Given the description of an element on the screen output the (x, y) to click on. 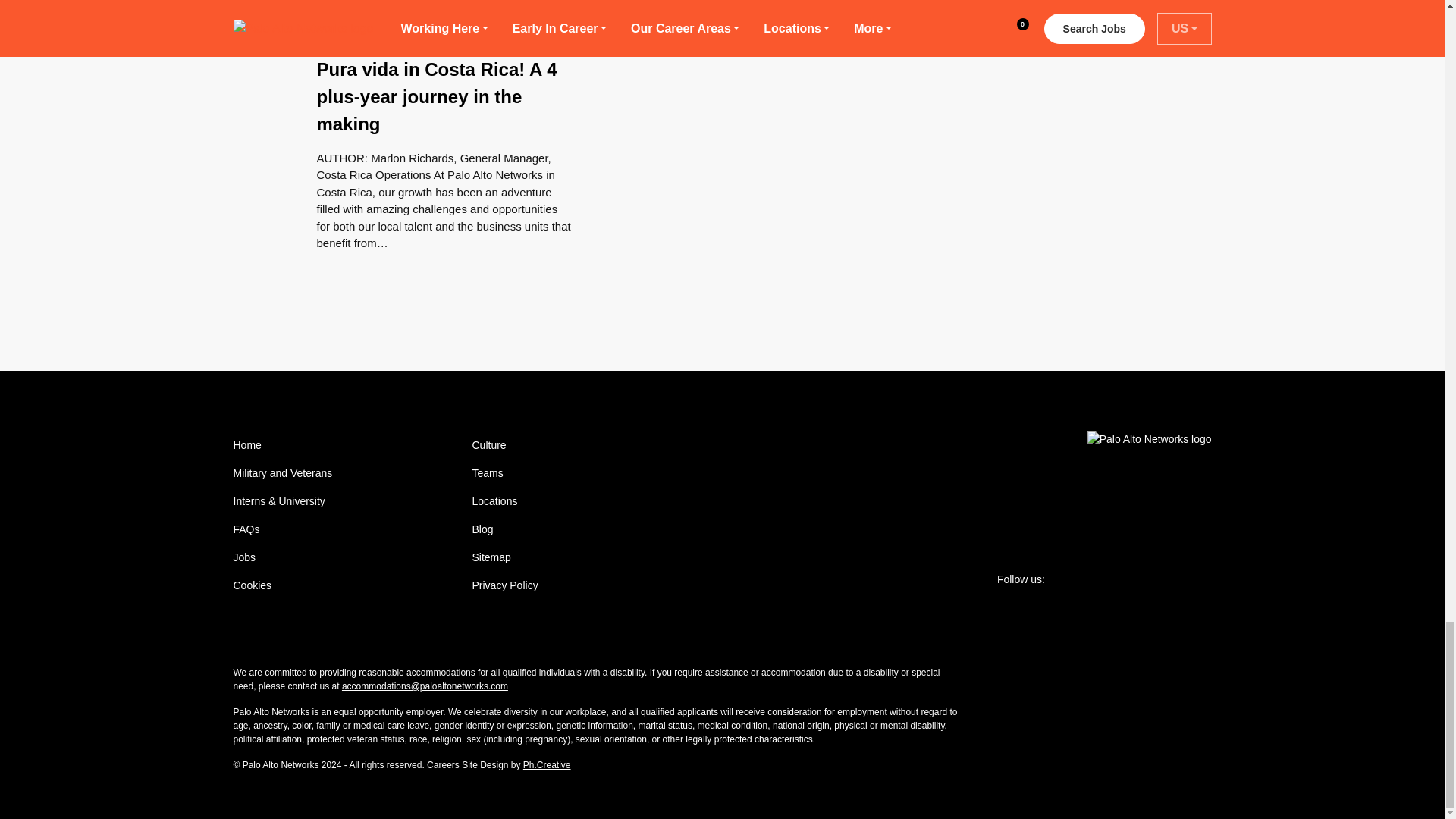
YouTube (1168, 579)
LinkedIn (1133, 579)
Instagram (1203, 579)
Twitter (1064, 579)
Facebook (1099, 579)
